Given the description of an element on the screen output the (x, y) to click on. 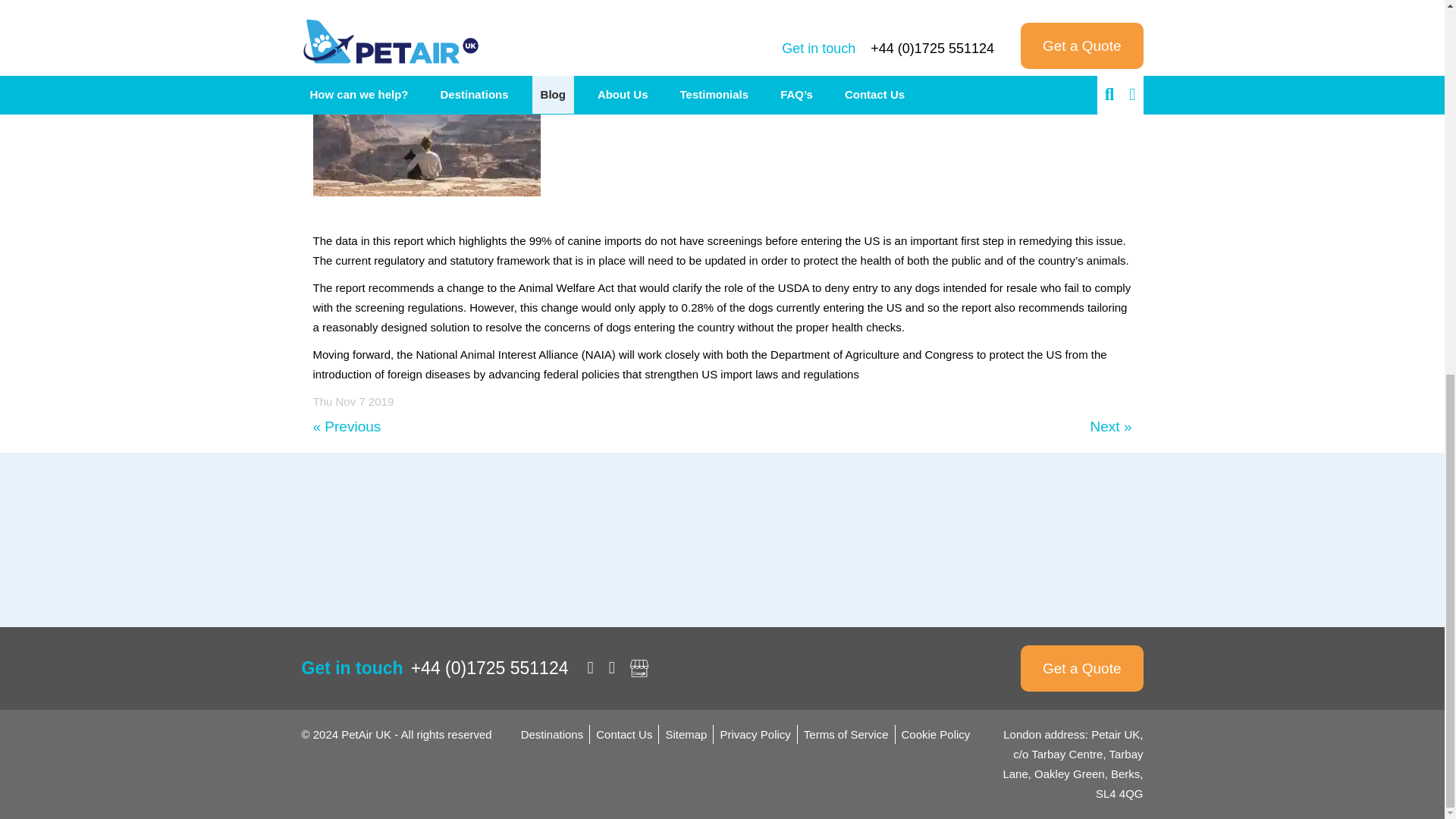
Destinations (552, 733)
Get a Quote (1081, 667)
Get a Quote (1081, 668)
